Given the description of an element on the screen output the (x, y) to click on. 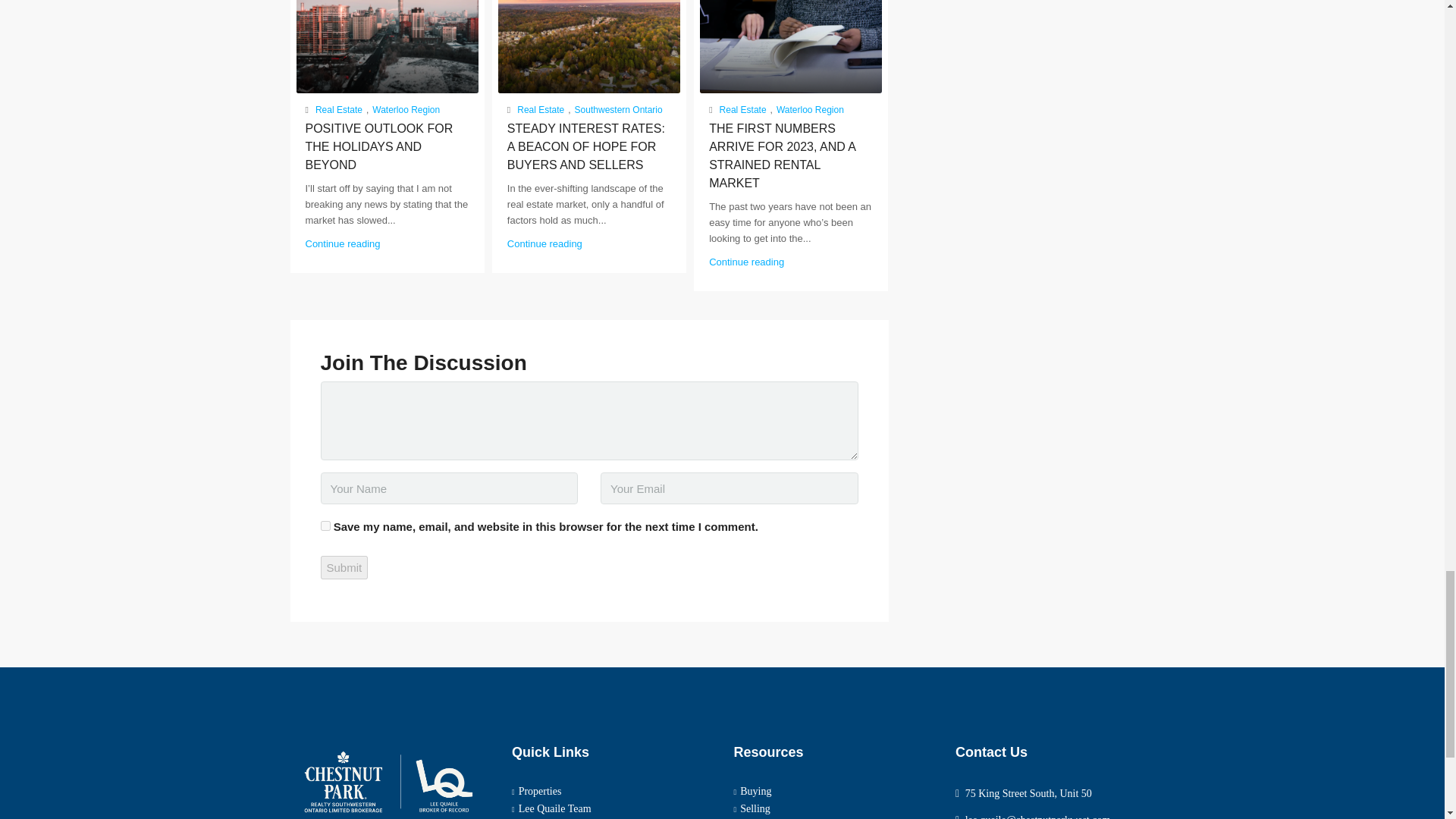
yes (325, 525)
Submit (344, 567)
